Given the description of an element on the screen output the (x, y) to click on. 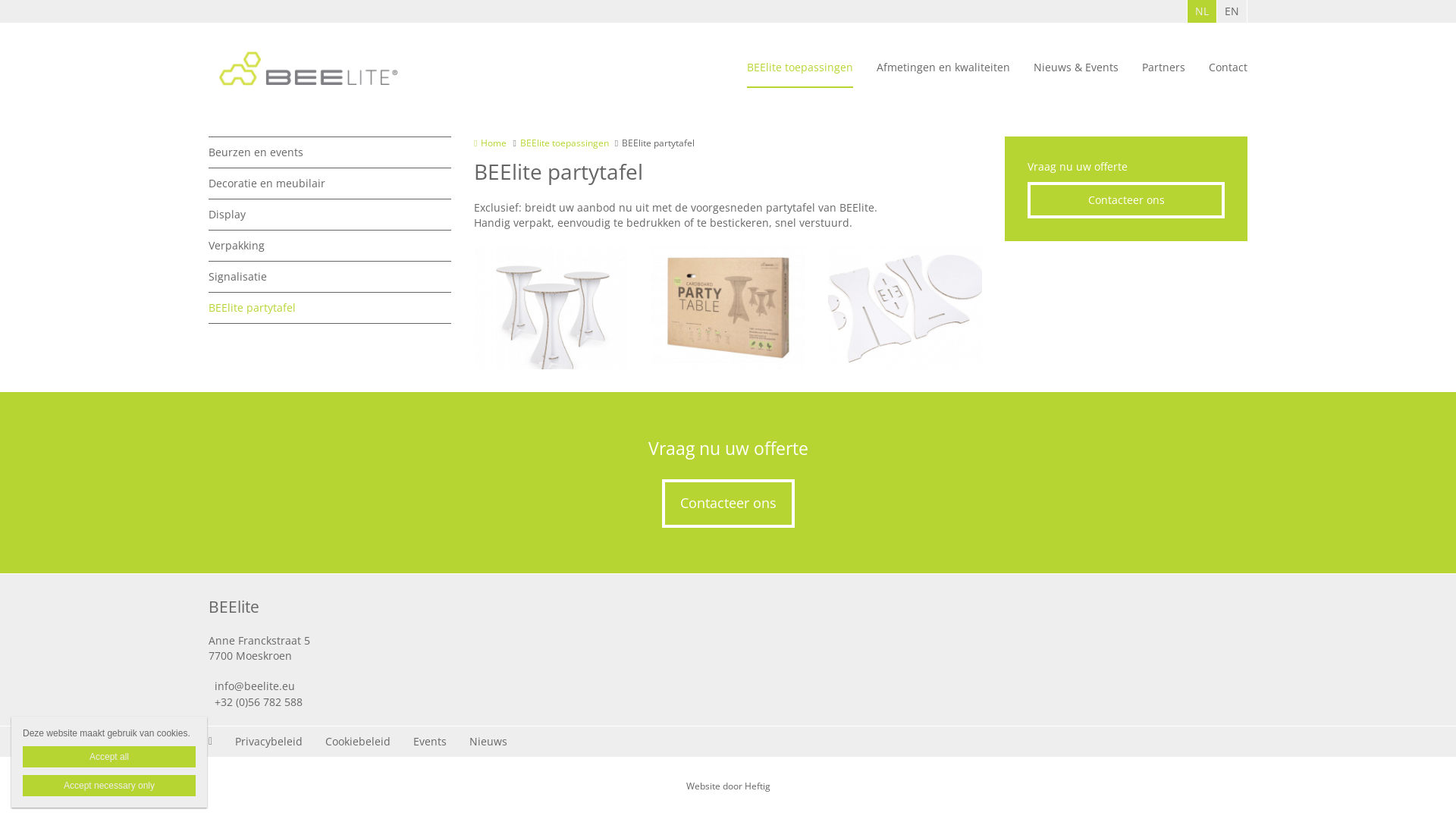
Afmetingen en kwaliteiten Element type: text (943, 67)
Nieuws Element type: text (488, 741)
NL Element type: text (1202, 11)
EN Element type: text (1232, 11)
Party table Element type: hover (550, 307)
Party table Element type: hover (905, 307)
Party table Element type: hover (727, 307)
Verpakking Element type: text (329, 245)
Contact Element type: text (1227, 67)
BEElite toepassingen Element type: text (564, 142)
Beurzen en events Element type: text (329, 152)
Overslaan en naar de inhoud gaan Element type: text (81, 0)
Website door Heftig Element type: text (727, 785)
Home Element type: text (489, 142)
BEElite partytafel Element type: text (329, 307)
Contacteer ons Element type: text (727, 503)
Events Element type: text (429, 741)
Privacybeleid Element type: text (268, 741)
Decoratie en meubilair Element type: text (329, 183)
Signalisatie Element type: text (329, 276)
Home | BEElite Element type: hover (330, 68)
Accept necessary only Element type: text (108, 785)
info@beelite.eu Element type: text (462, 686)
Display Element type: text (329, 214)
Partners Element type: text (1163, 67)
BEElite toepassingen Element type: text (799, 67)
Cookiebeleid Element type: text (357, 741)
Nieuws & Events Element type: text (1075, 67)
Contacteer ons Element type: text (1125, 200)
Home | BEElite Element type: hover (307, 68)
+32 (0)56 782 588 Element type: text (462, 702)
Accept all Element type: text (108, 756)
